Given the description of an element on the screen output the (x, y) to click on. 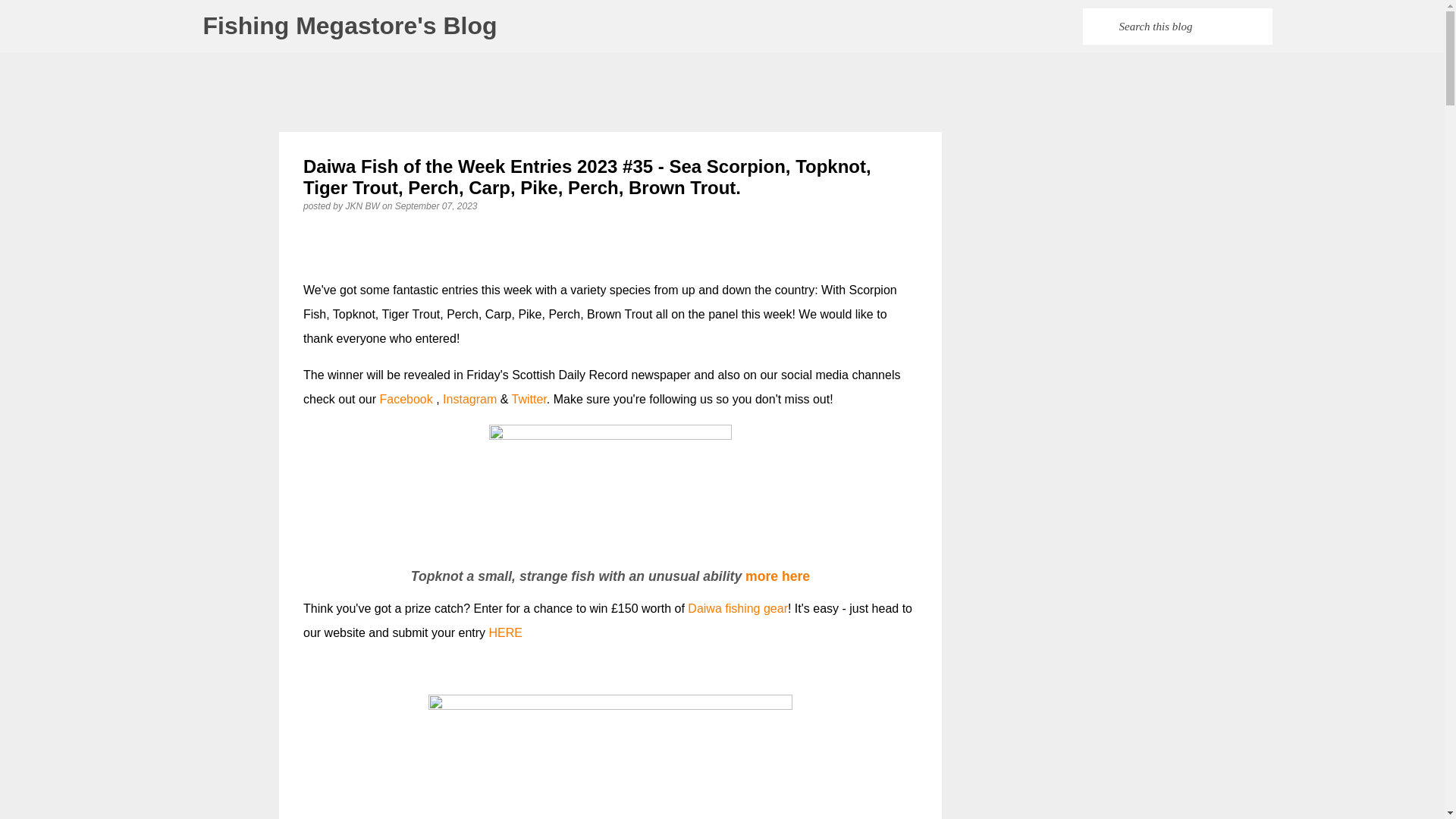
Daiwa fishing gear (737, 608)
more here (777, 575)
author profile (363, 205)
Instagram (469, 399)
Fishing Megastore's Blog (350, 25)
Facebook  (406, 399)
JKN BW (363, 205)
Twitter (529, 399)
HERE (505, 632)
September 07, 2023 (435, 205)
permanent link (435, 205)
